Given the description of an element on the screen output the (x, y) to click on. 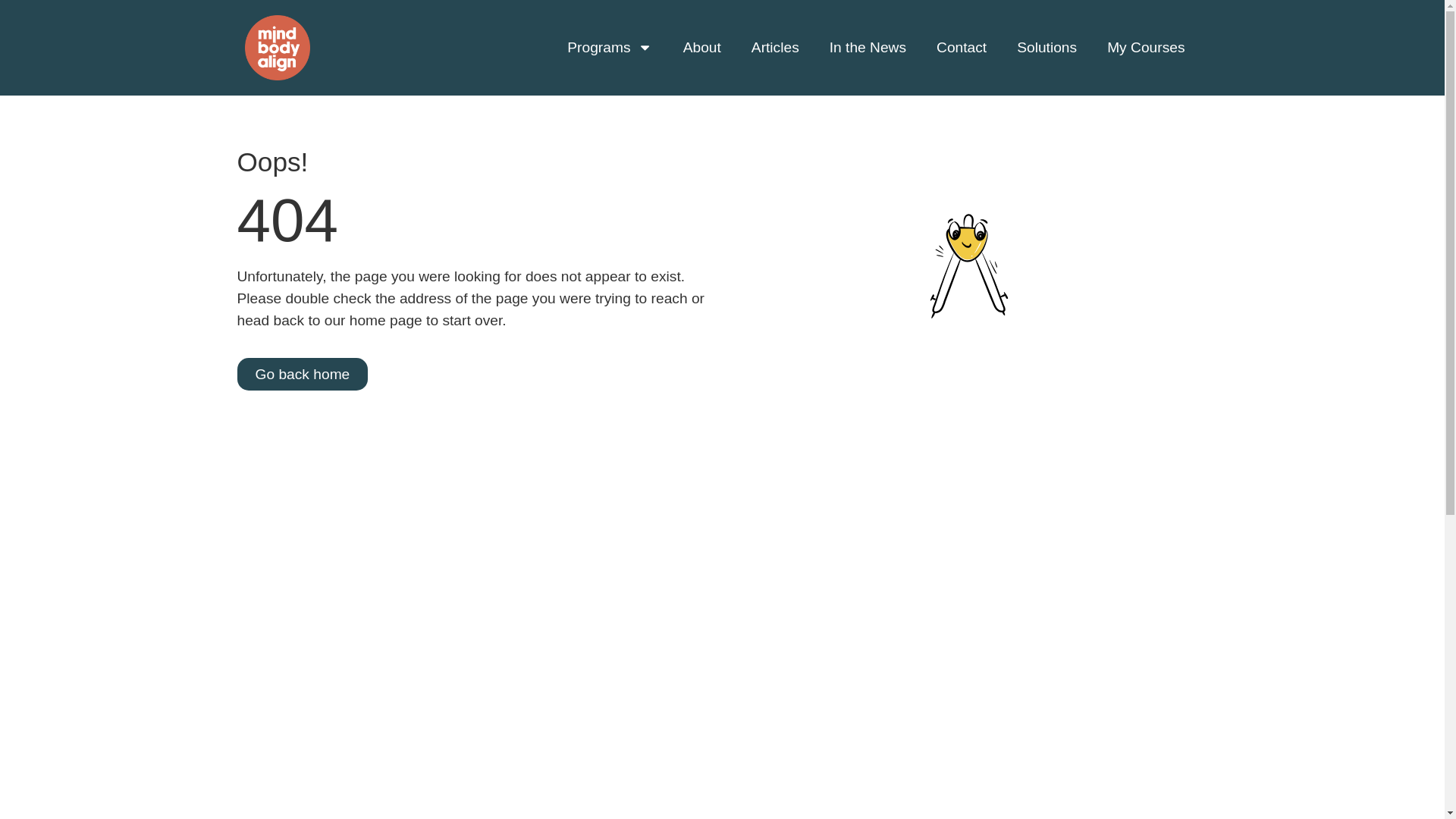
Programs (608, 47)
Go back home (301, 373)
Contact (961, 47)
About (702, 47)
Articles (774, 47)
Solutions (1046, 47)
In the News (867, 47)
My Courses (1145, 47)
